Given the description of an element on the screen output the (x, y) to click on. 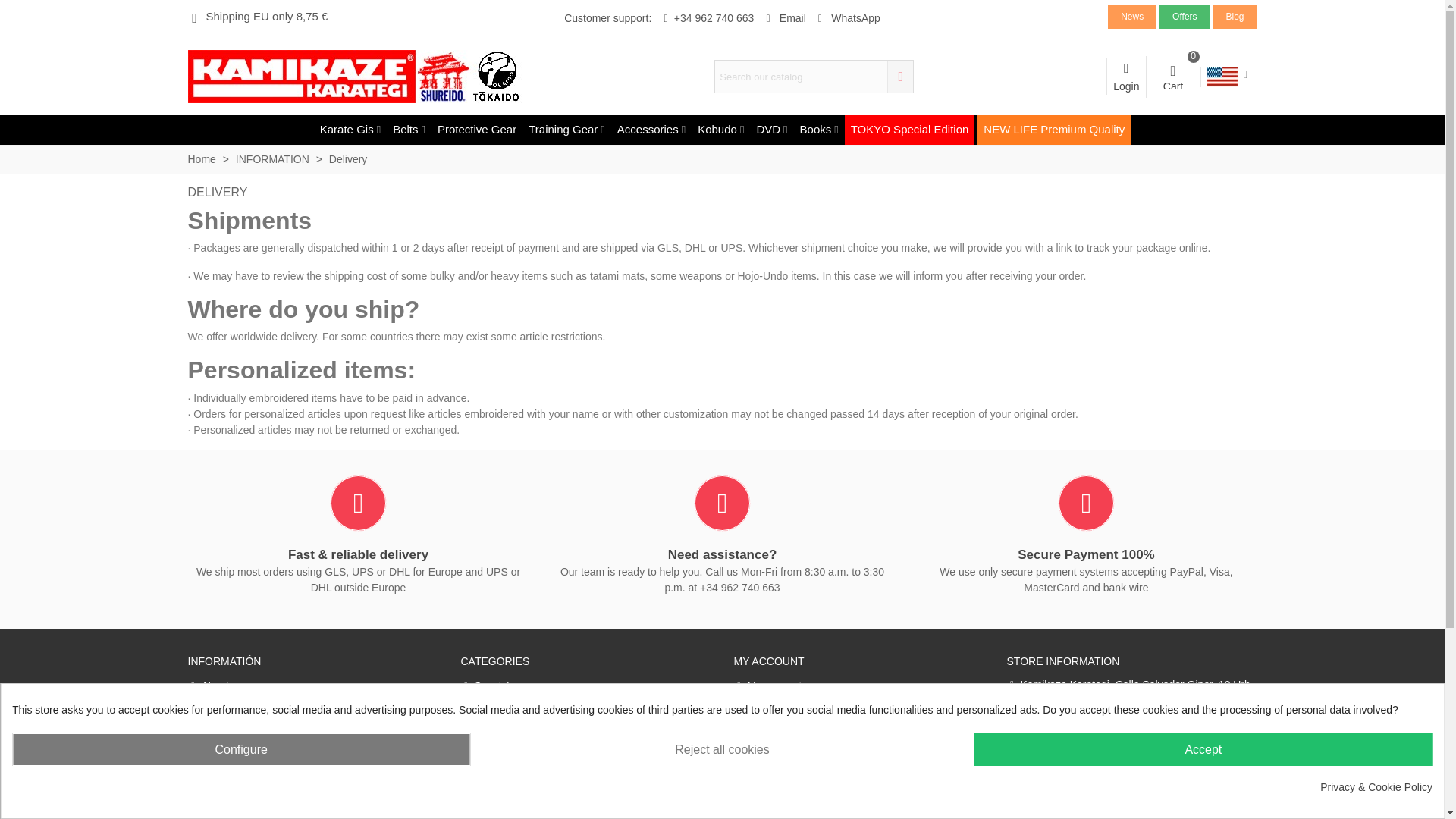
Karate Gis (350, 129)
Offers (1183, 15)
News (1132, 15)
Log in to your customer account (1125, 76)
Belts (408, 129)
Blog (1173, 76)
News (1234, 15)
  Email (1132, 15)
Karate Gis (784, 18)
Login (350, 129)
Offers (1125, 76)
 WhatsApp (1183, 15)
View my shopping cart (846, 18)
Blog (1173, 76)
